Given the description of an element on the screen output the (x, y) to click on. 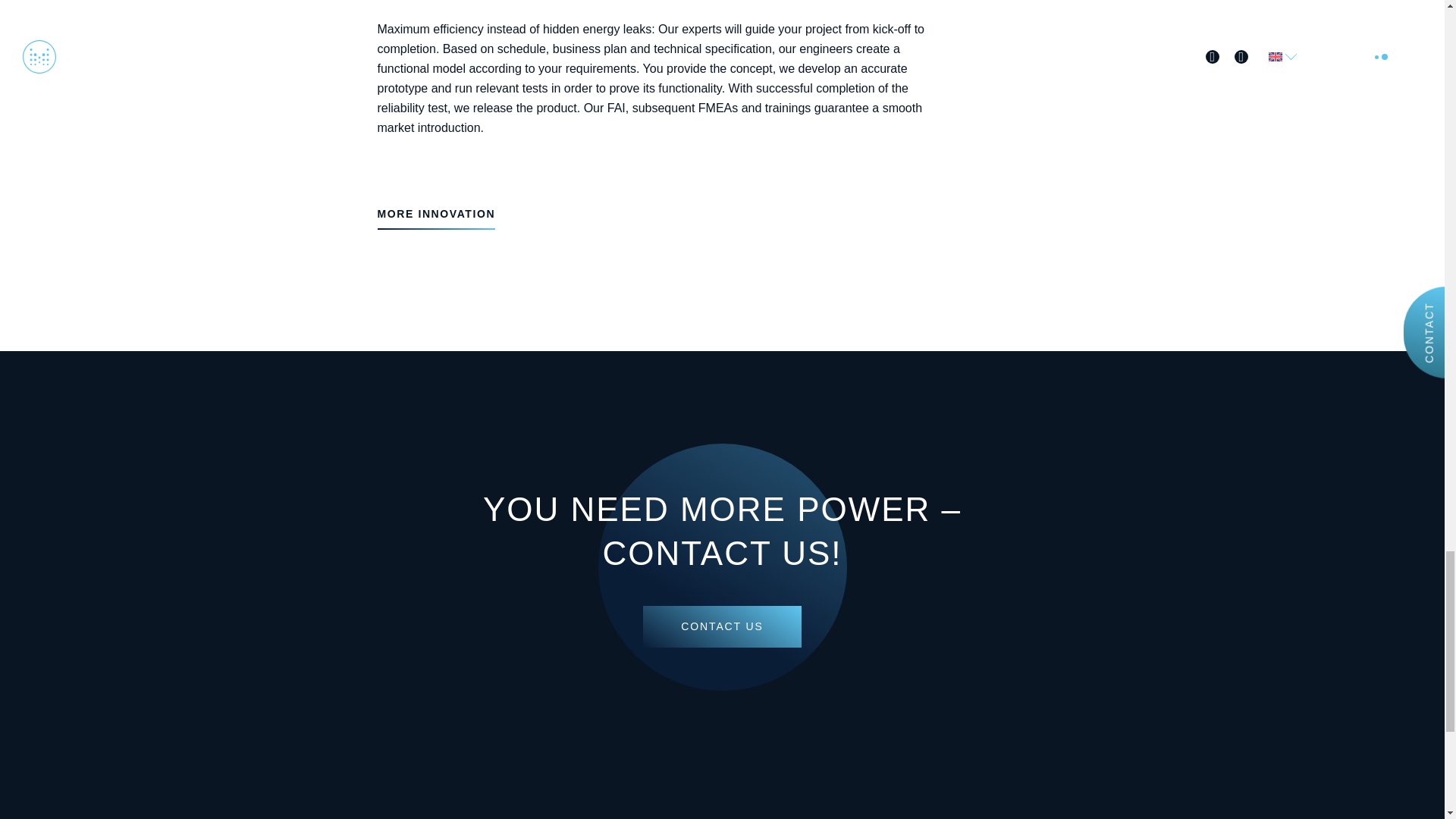
MORE INNOVATION (436, 214)
CONTACT US (721, 626)
